Given the description of an element on the screen output the (x, y) to click on. 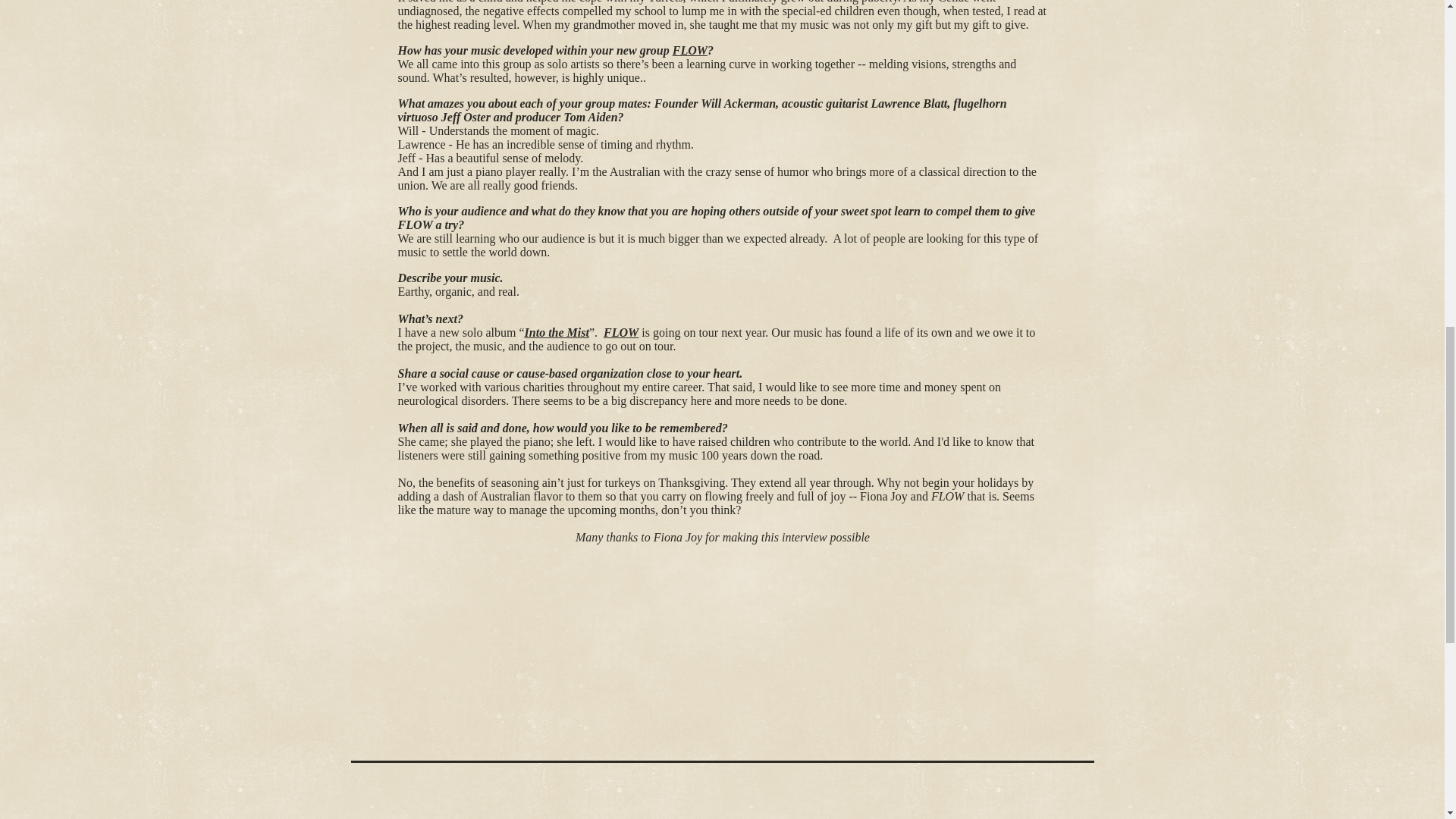
Into the Mist (556, 332)
FLOW (689, 50)
FLOW (621, 332)
